Given the description of an element on the screen output the (x, y) to click on. 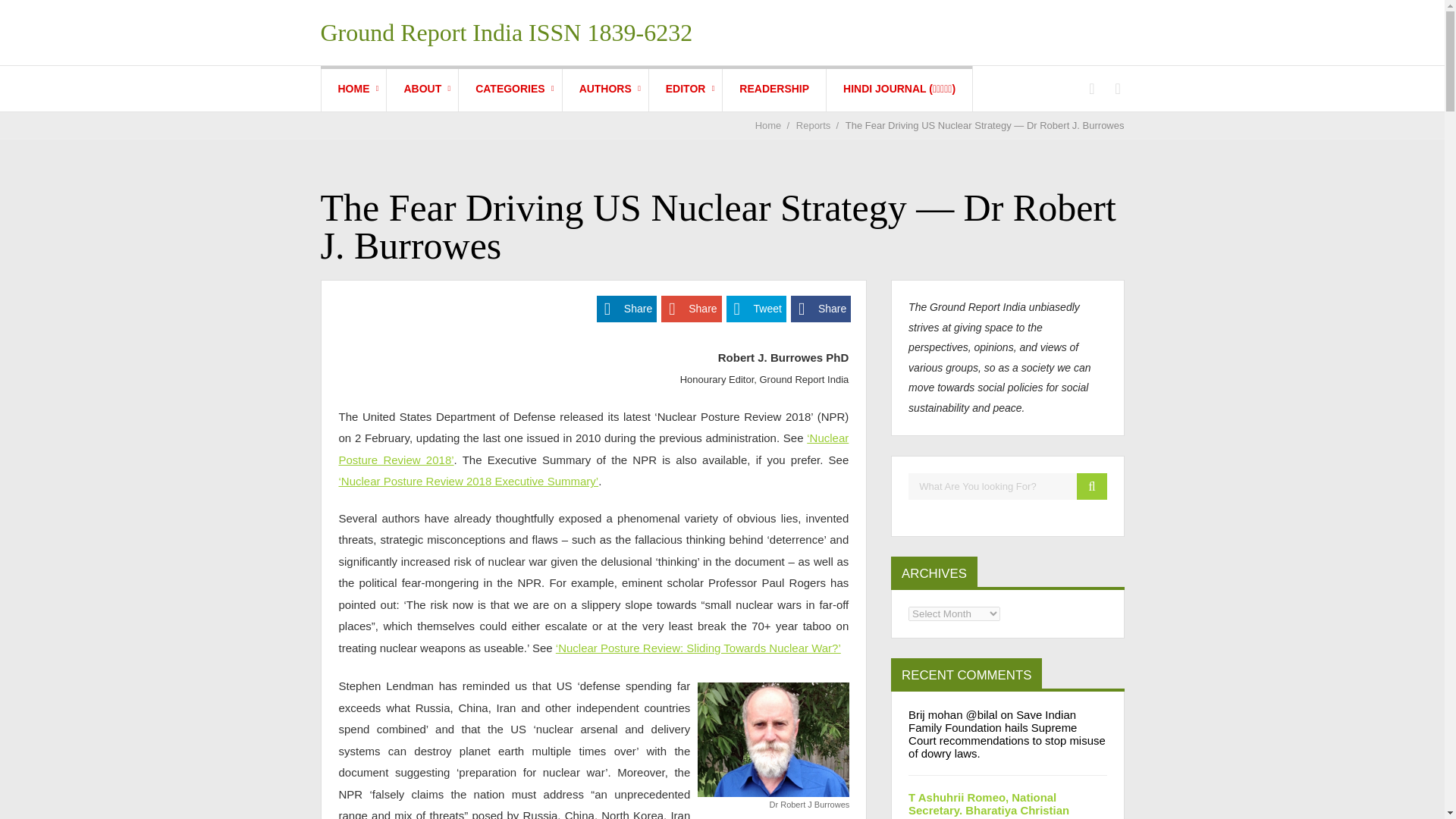
HOME (354, 88)
robert-j-burrowes-02 (772, 739)
200,000 subscribers in around 100 countries (773, 88)
Ground Report India ISSN 1839-6232 (506, 32)
CATEGORIES (509, 88)
ABOUT (422, 88)
